Given the description of an element on the screen output the (x, y) to click on. 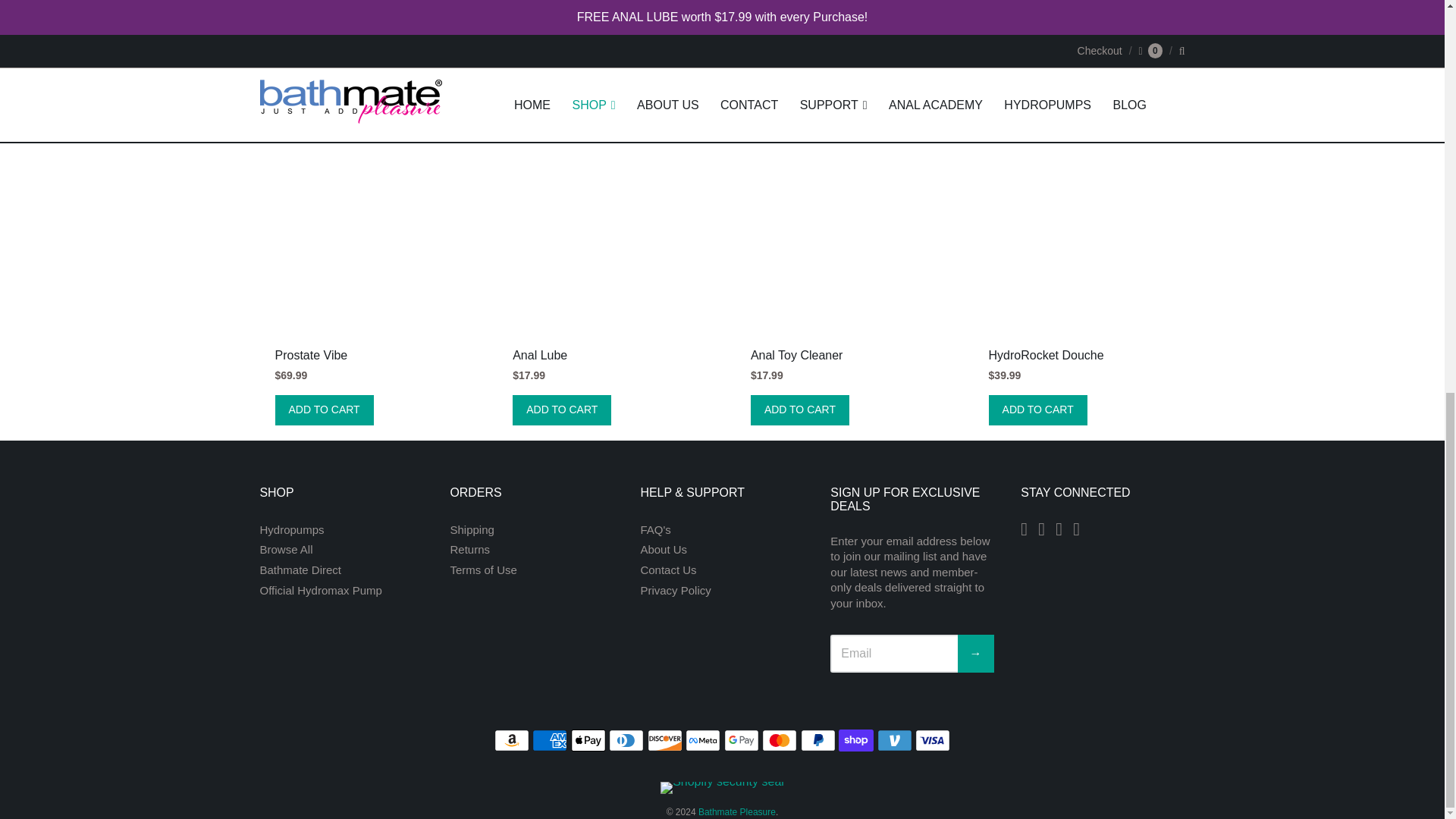
Mastercard (778, 740)
Amazon (512, 740)
Anal Training Plugs (310, 1)
HydroRocket Douche (1079, 226)
PayPal (817, 740)
Discover (664, 740)
Prostate Vibe (311, 354)
Anal Lube (603, 226)
Meta Pay (702, 740)
This online store is secured by Shopify (722, 780)
Anal Training Plugs (426, 1)
Anal Toy Cleaner (841, 226)
Diners Club (625, 740)
Prostate Vibe (311, 354)
ADD TO CART (323, 409)
